Given the description of an element on the screen output the (x, y) to click on. 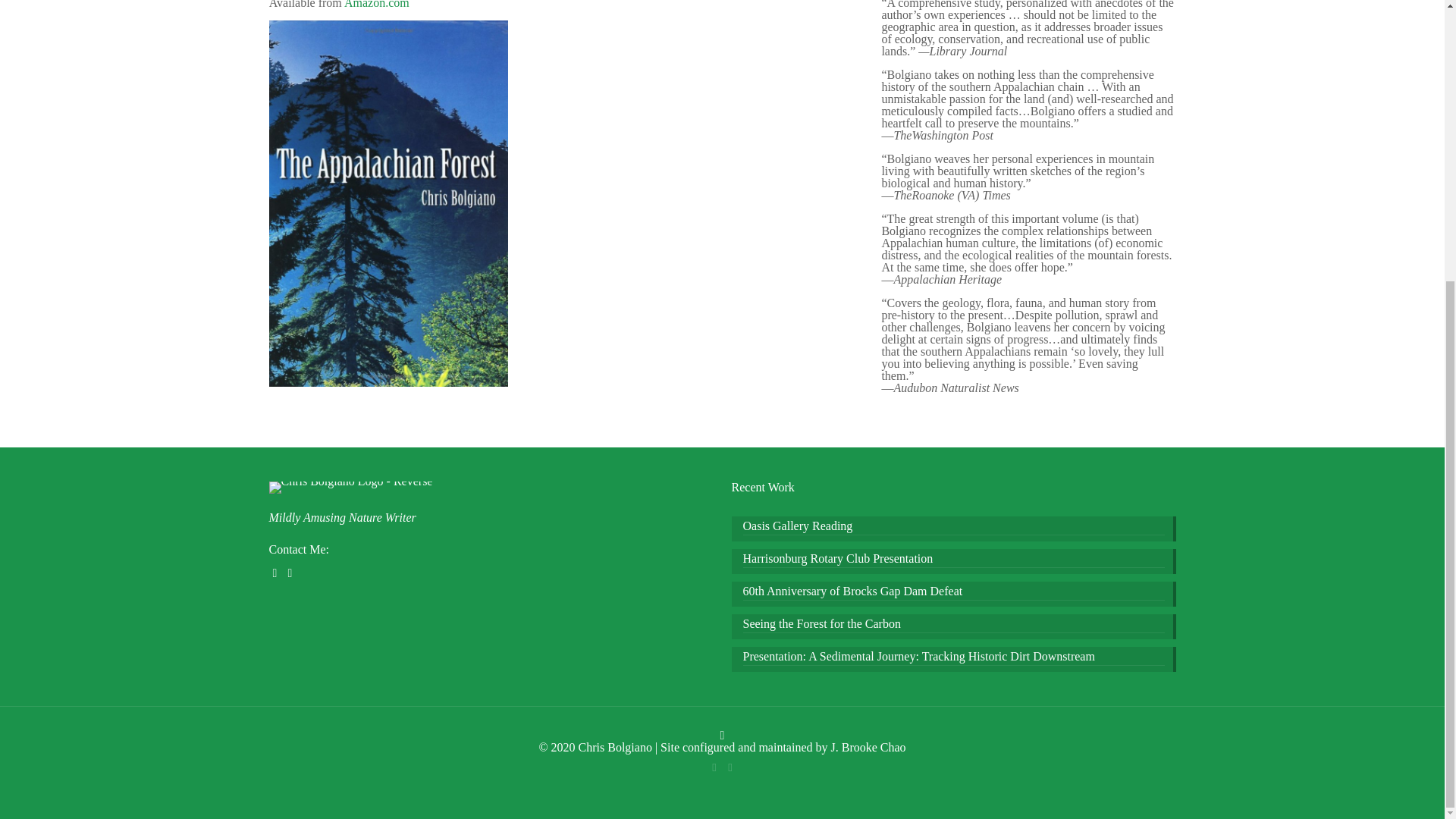
Contact Me (730, 767)
Oasis Gallery Reading (953, 527)
Seeing the Forest for the Carbon (953, 625)
Facebook (713, 767)
Facebook (275, 572)
Harrisonburg Rotary Club Presentation (953, 560)
Amazon.com (376, 4)
60th Anniversary of Brocks Gap Dam Defeat (953, 592)
Contact Me (289, 572)
